Given the description of an element on the screen output the (x, y) to click on. 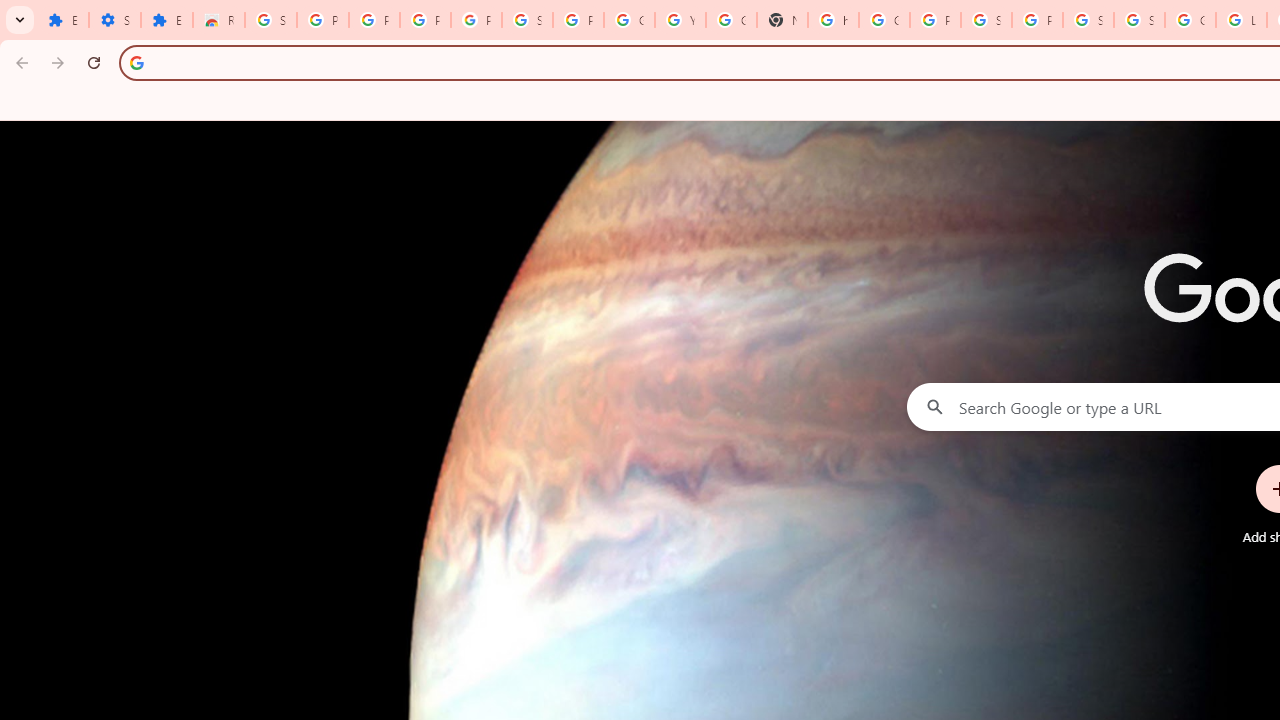
Sign in - Google Accounts (270, 20)
Settings (114, 20)
https://scholar.google.com/ (832, 20)
